Given the description of an element on the screen output the (x, y) to click on. 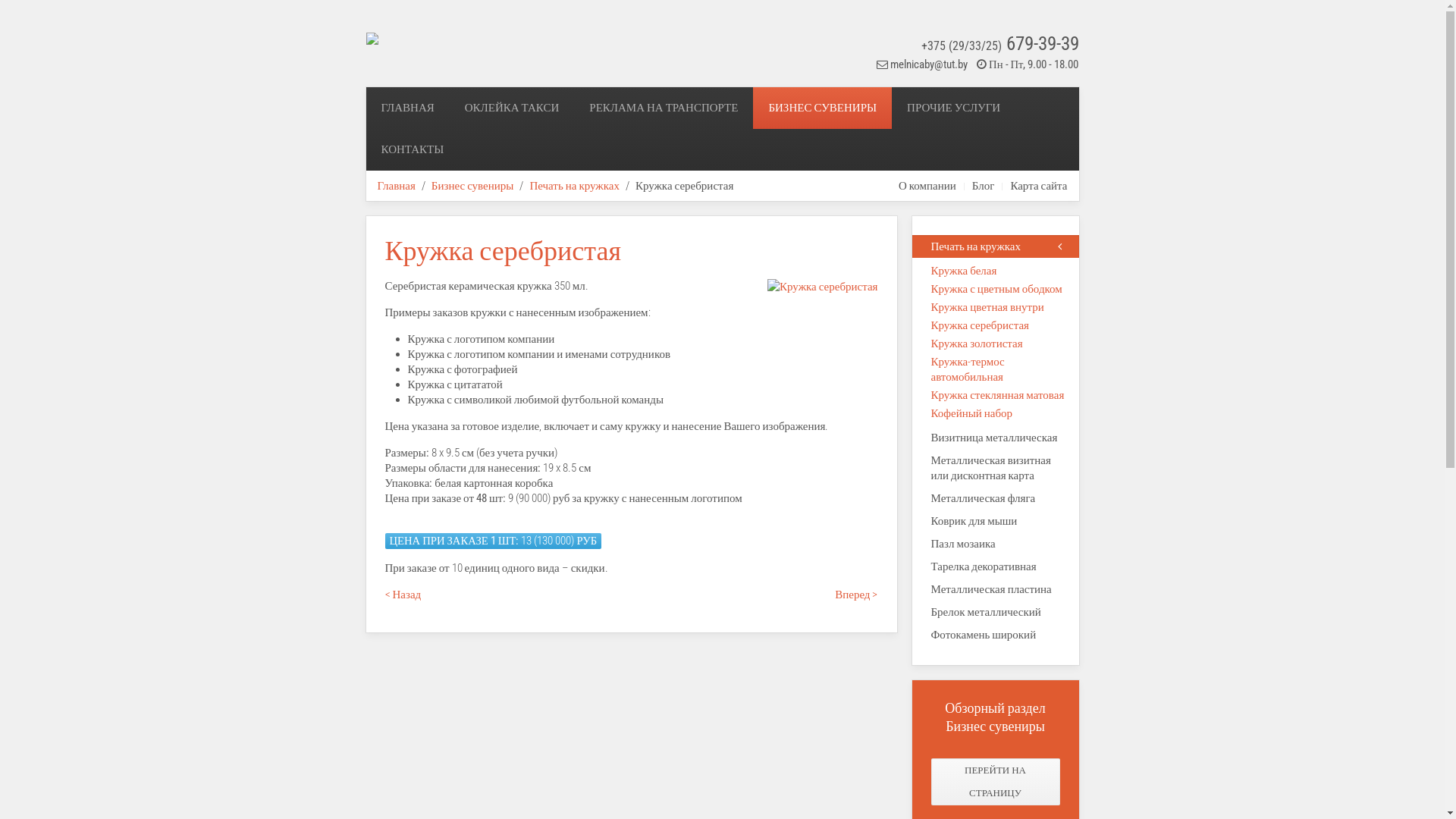
melnicaby@tut.by Element type: text (928, 64)
